Given the description of an element on the screen output the (x, y) to click on. 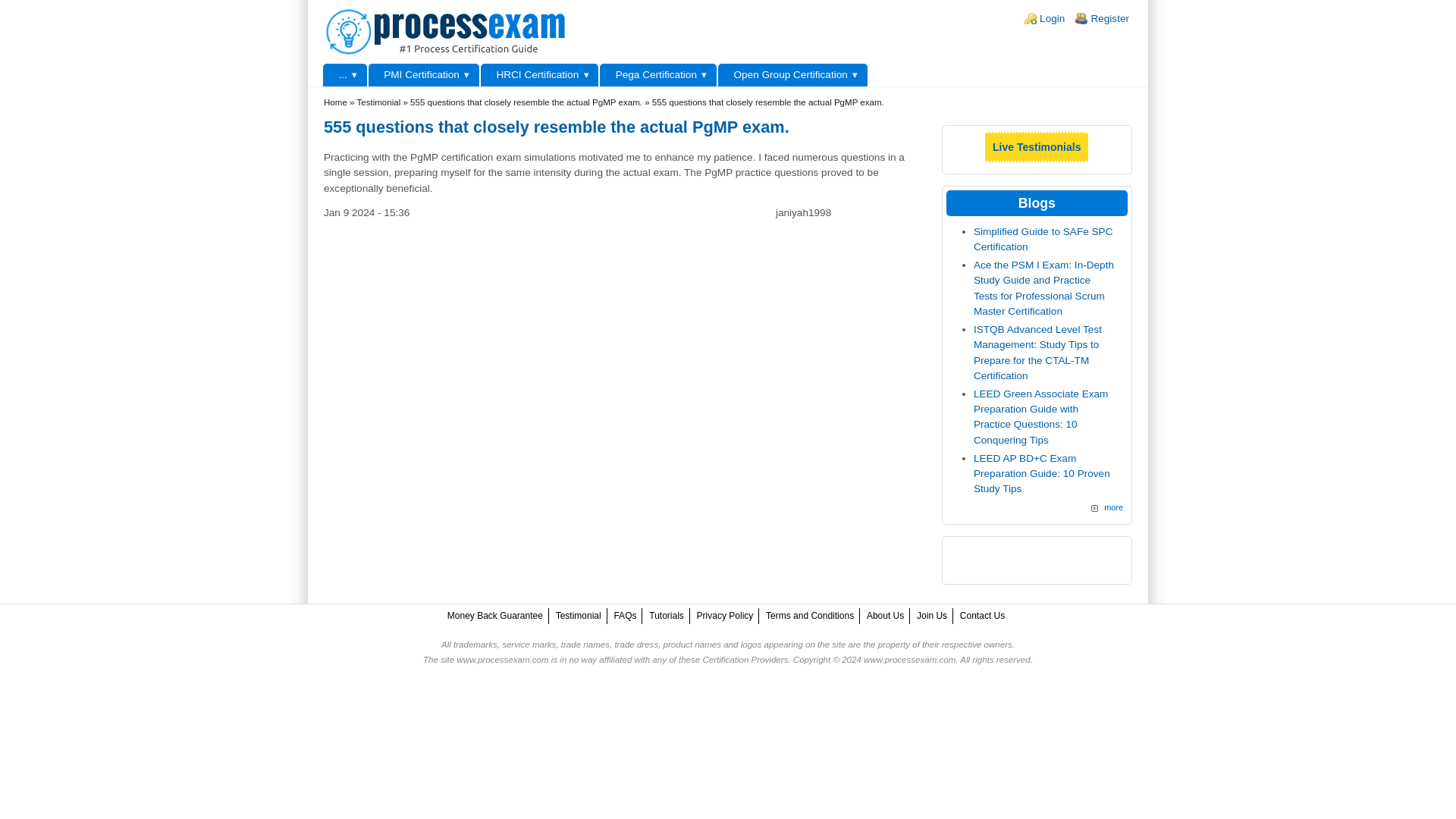
Login (1051, 18)
... (344, 74)
Register (1109, 18)
Other Certification (344, 74)
Skip to search (32, 0)
